Given the description of an element on the screen output the (x, y) to click on. 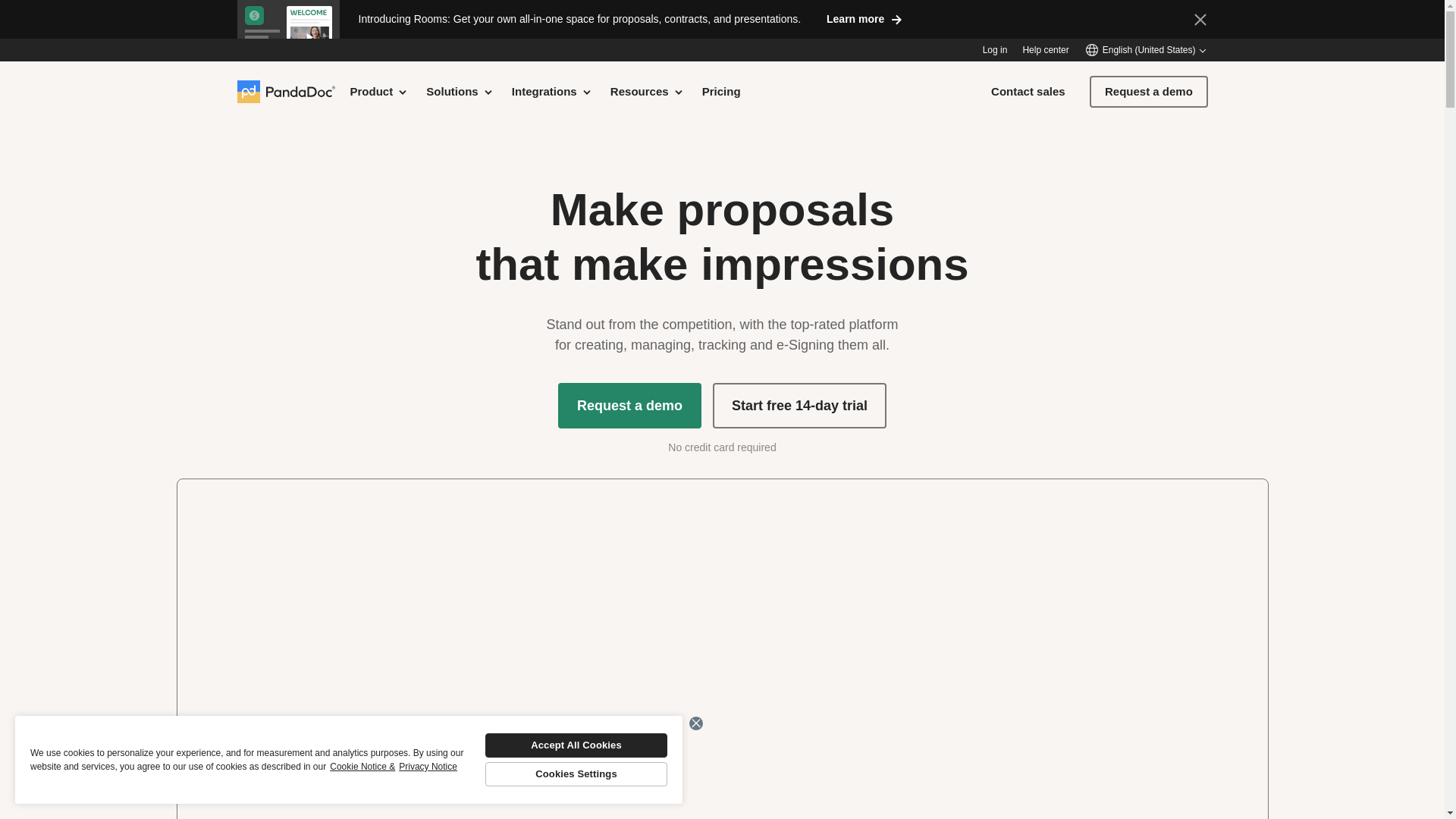
Learn more (864, 18)
Product (379, 91)
Log in (994, 49)
Solutions (459, 91)
Help center (1045, 49)
